Given the description of an element on the screen output the (x, y) to click on. 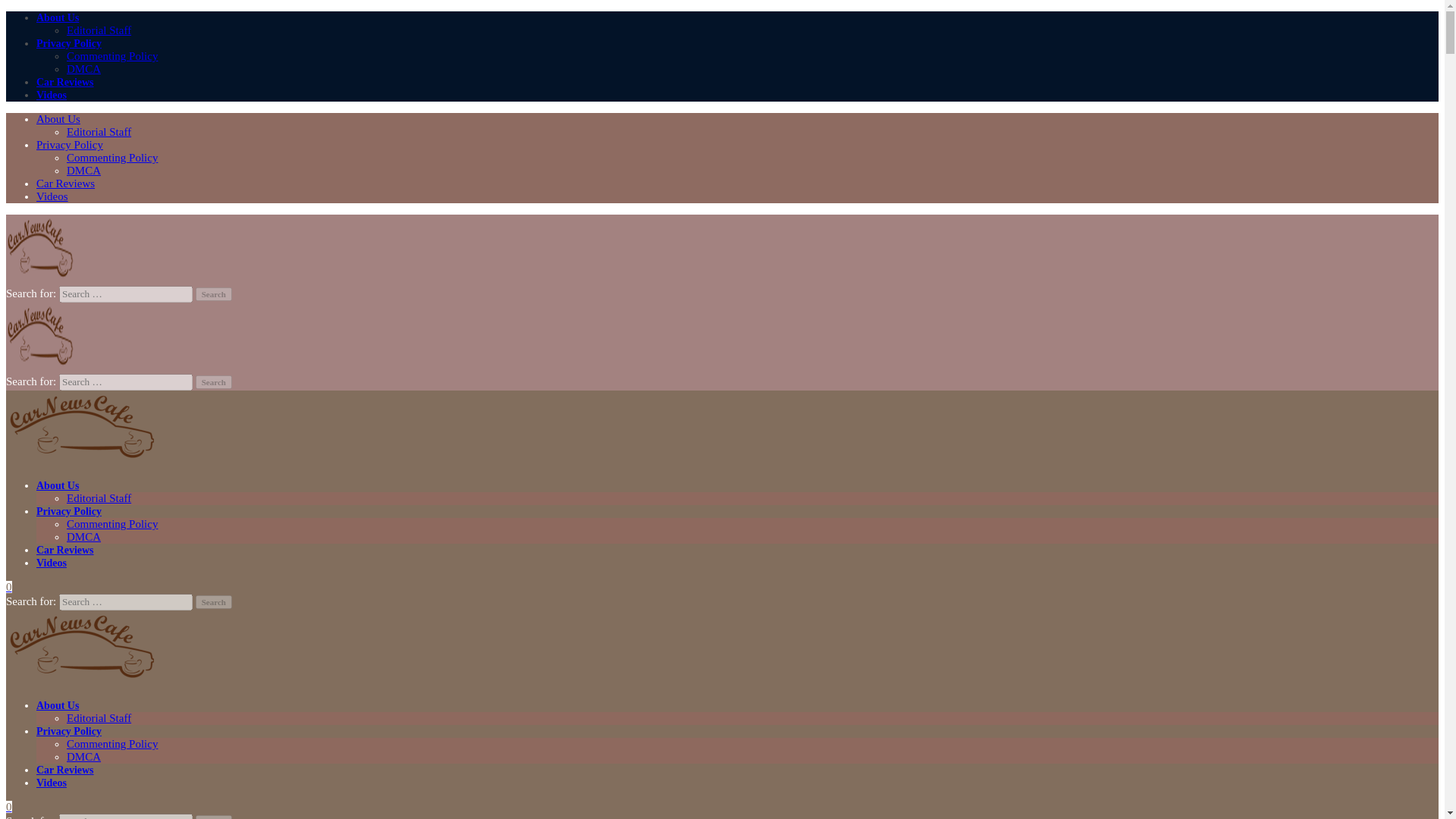
About Us (57, 485)
Videos (52, 196)
Search (213, 382)
Editorial Staff (98, 498)
Privacy Policy (68, 43)
Videos (51, 562)
Editorial Staff (98, 30)
DMCA (83, 170)
About Us (57, 705)
About Us (57, 17)
Search (213, 602)
CarNewsCafe (81, 460)
CarNewsCafe (81, 680)
Editorial Staff (98, 132)
Search (213, 294)
